Given the description of an element on the screen output the (x, y) to click on. 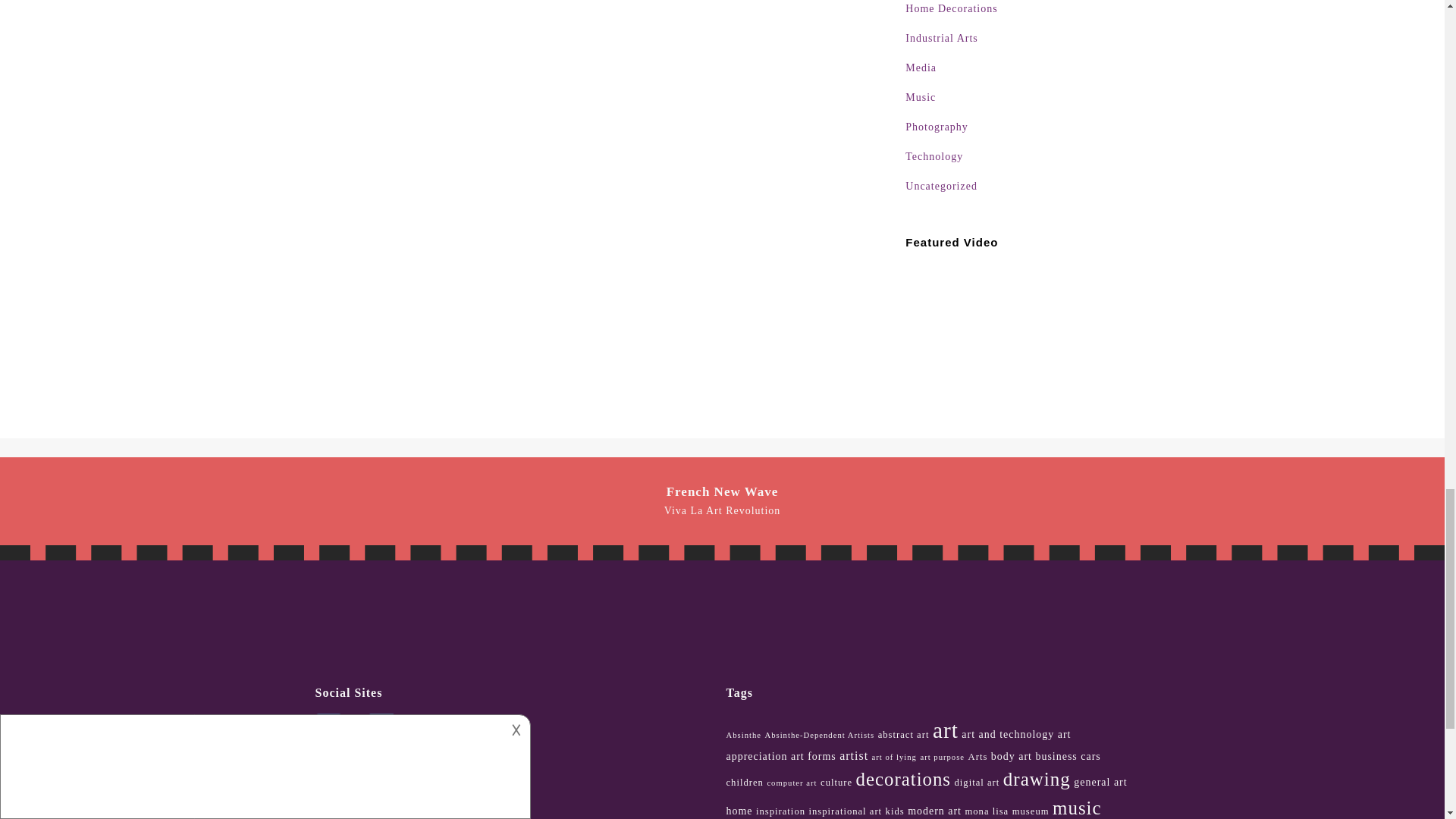
Industrial Arts (1015, 44)
Home Decorations (1015, 15)
YouTube video player (1015, 333)
